Given the description of an element on the screen output the (x, y) to click on. 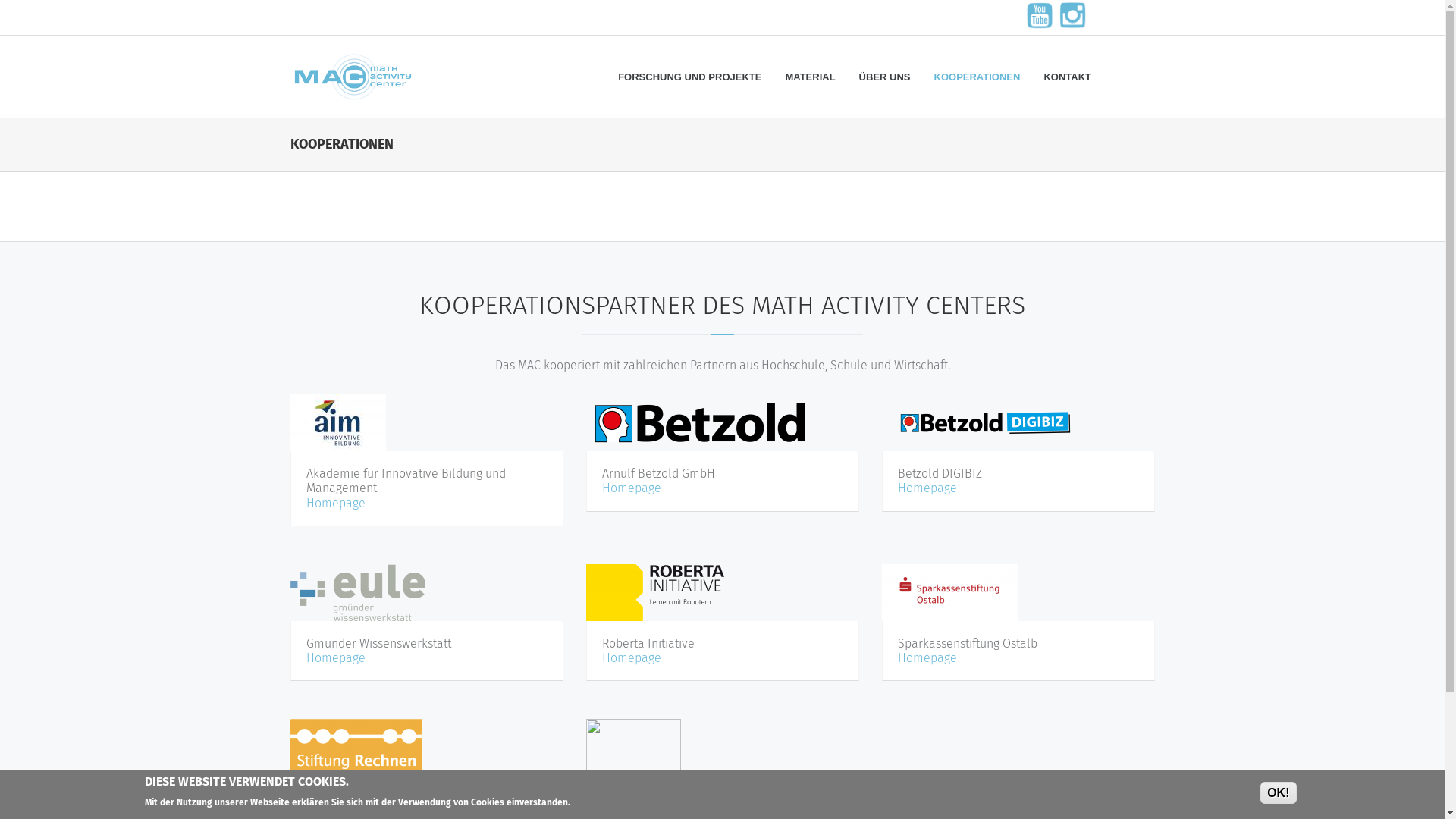
Homepage Element type: text (631, 657)
OK! Element type: text (1277, 792)
Homepage Element type: text (631, 487)
MATERIAL Element type: text (809, 76)
FORSCHUNG UND PROJEKTE Element type: text (689, 76)
KONTAKT Element type: text (1067, 76)
Homepage Element type: text (335, 657)
Homepage Element type: text (927, 487)
KOOPERATIONEN Element type: text (977, 76)
Homepage Element type: text (335, 502)
Homepage Element type: text (927, 657)
Direkt zum Inhalt Element type: text (46, 0)
